Given the description of an element on the screen output the (x, y) to click on. 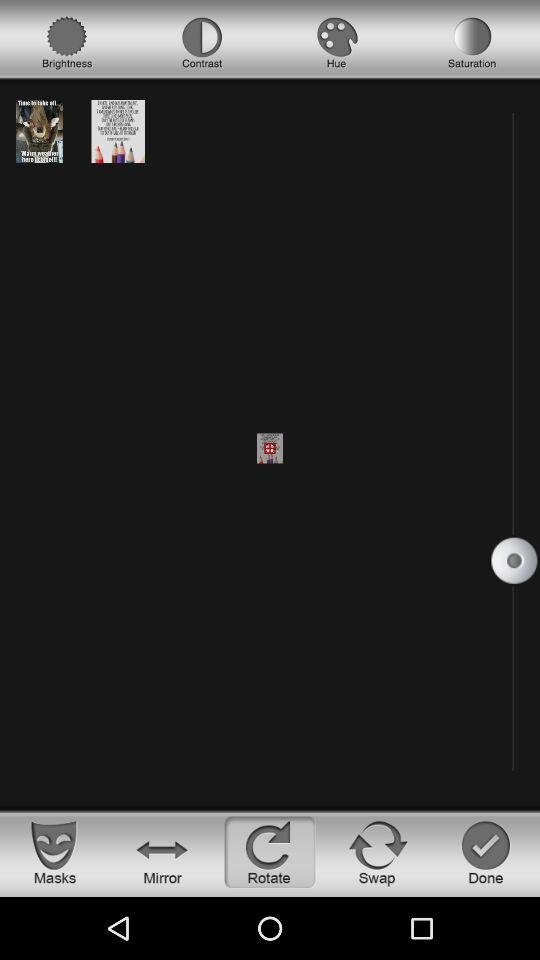
open image option (39, 130)
